Given the description of an element on the screen output the (x, y) to click on. 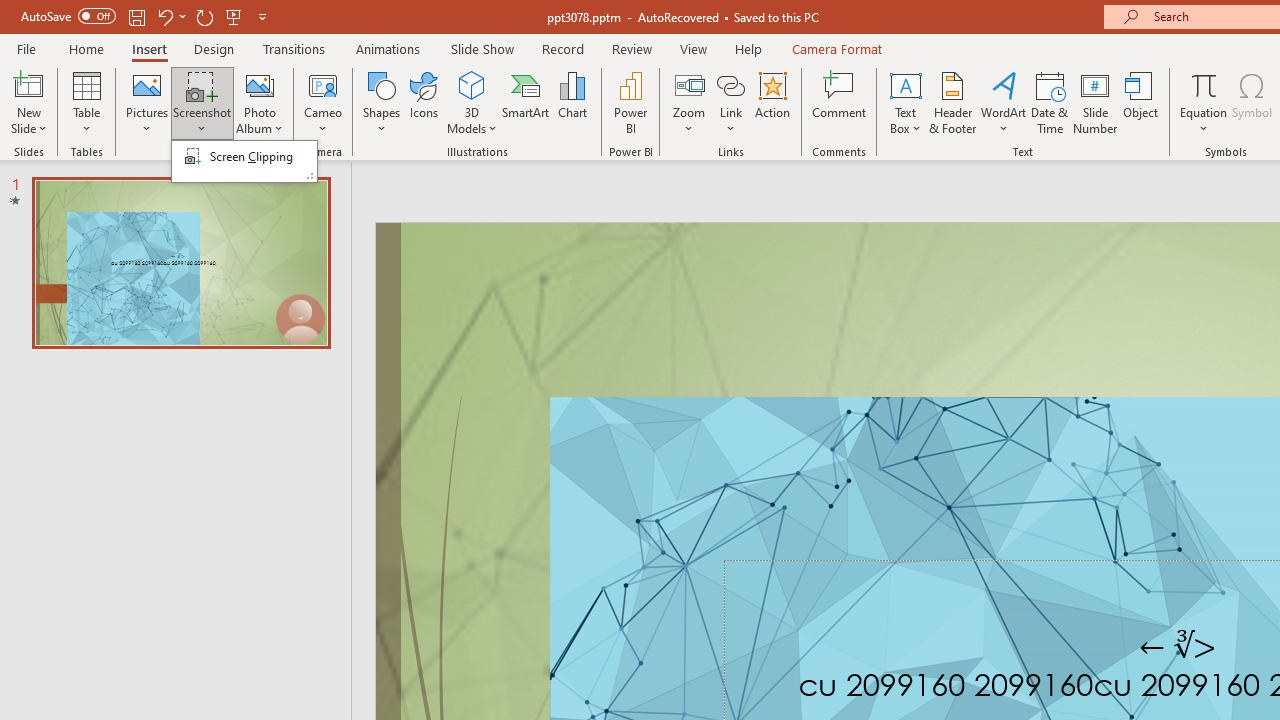
Slide Number (1095, 102)
Symbol... (1252, 102)
